Given the description of an element on the screen output the (x, y) to click on. 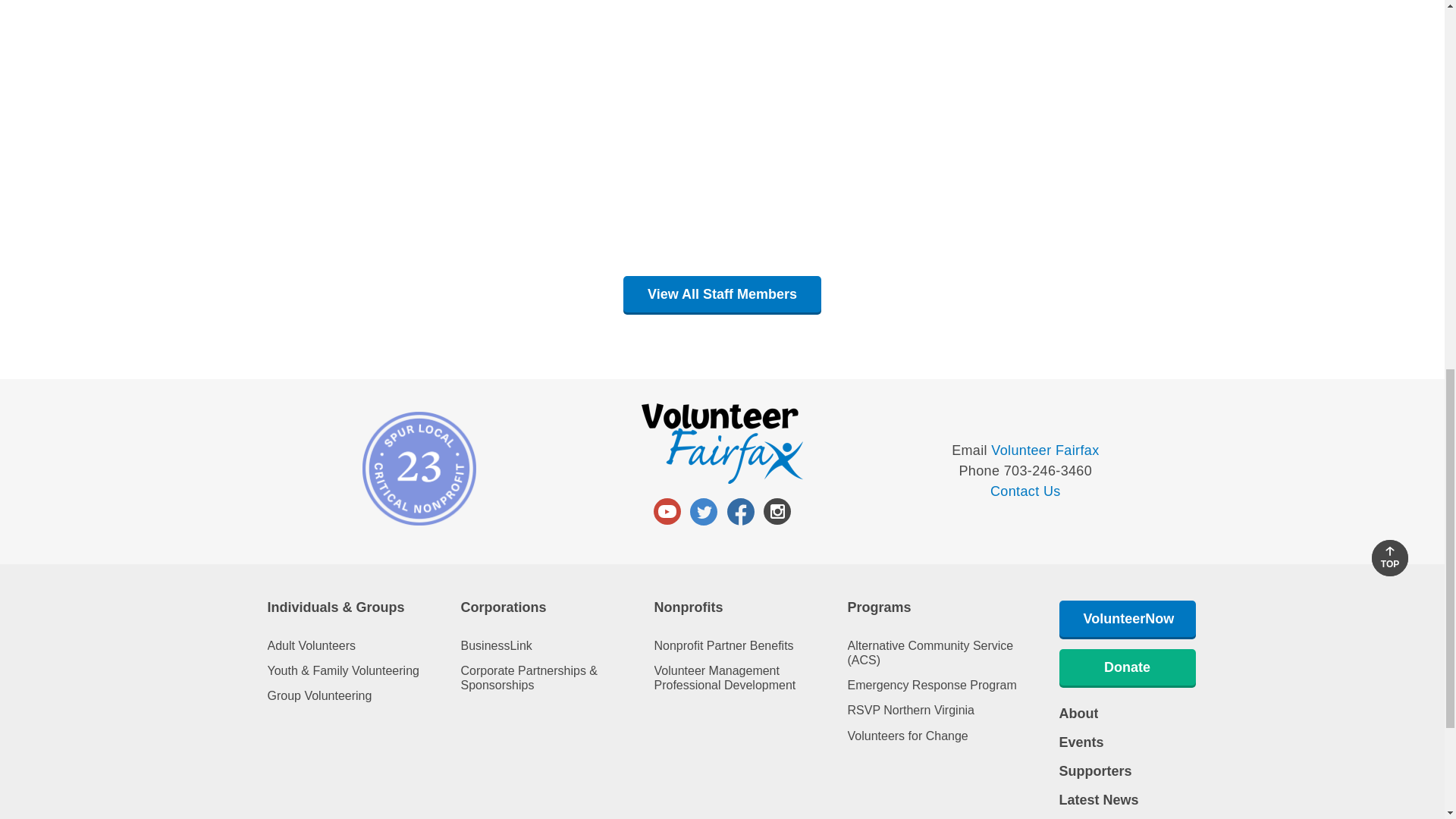
youtube (667, 511)
twitter (703, 511)
arrow (1390, 551)
instagram (776, 511)
facebook (740, 511)
